Given the description of an element on the screen output the (x, y) to click on. 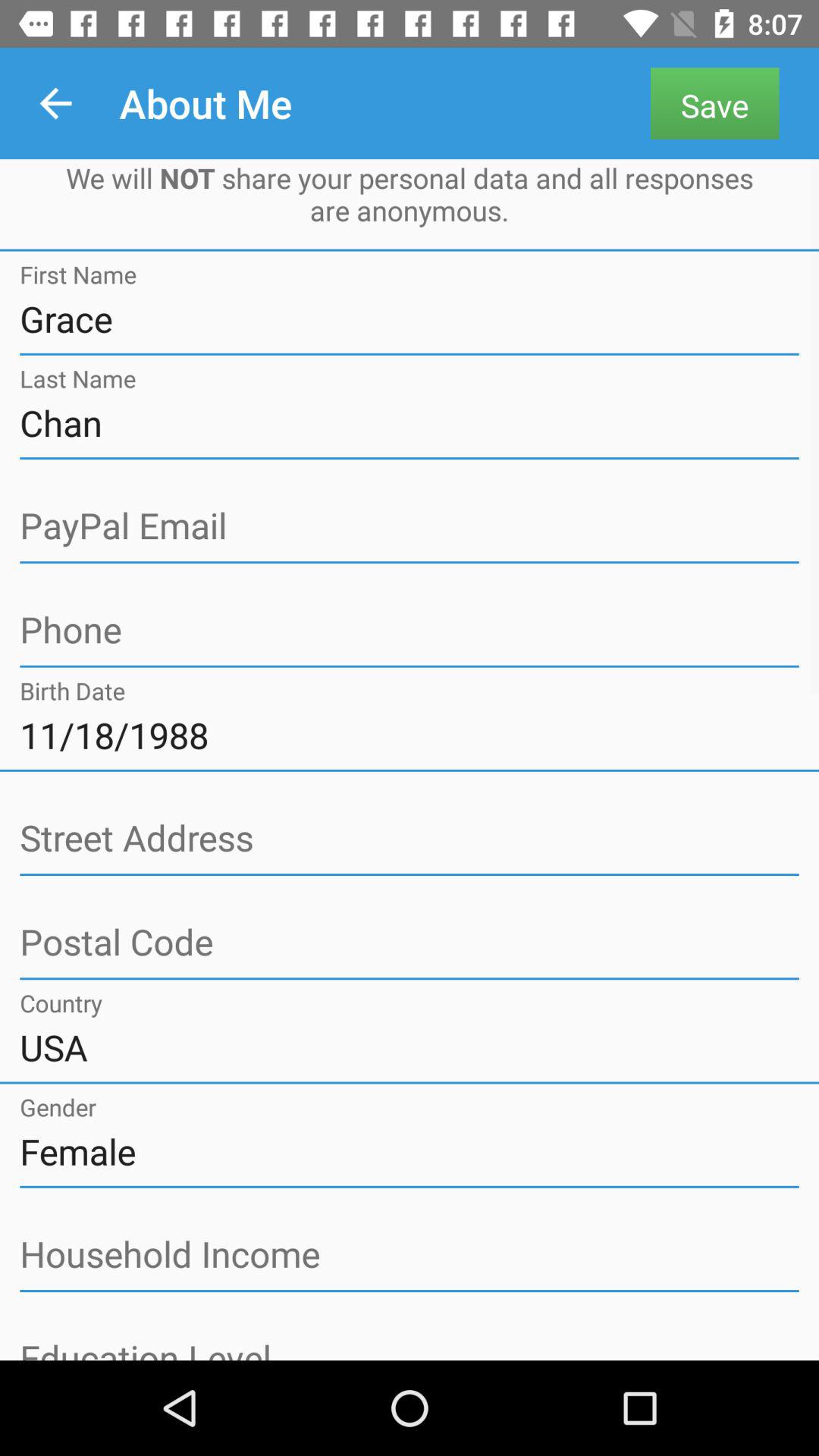
type code number (409, 943)
